Given the description of an element on the screen output the (x, y) to click on. 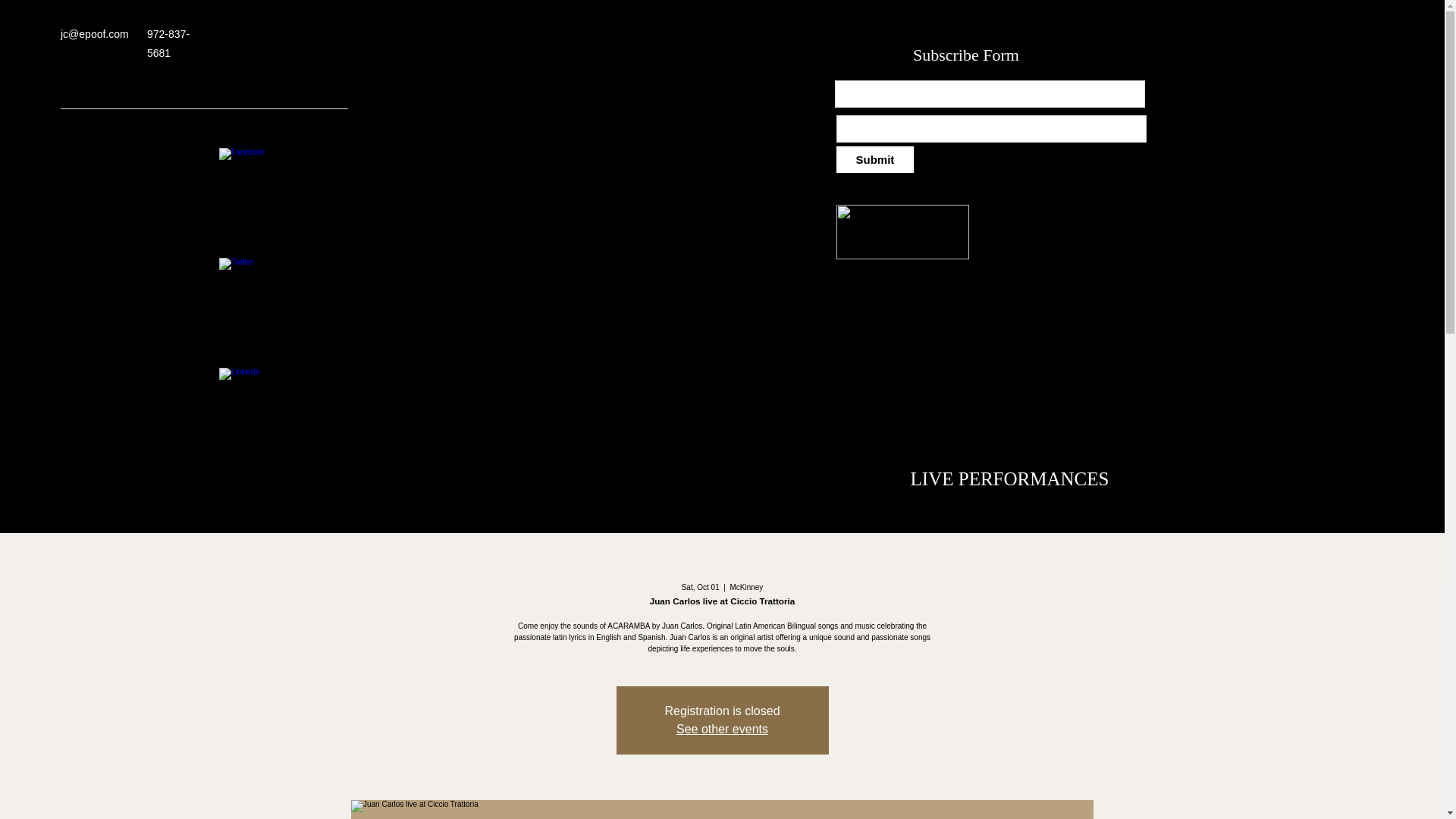
See other events (722, 728)
Book-Now.jpg (902, 231)
Log In (1348, 34)
Submit (874, 159)
